Given the description of an element on the screen output the (x, y) to click on. 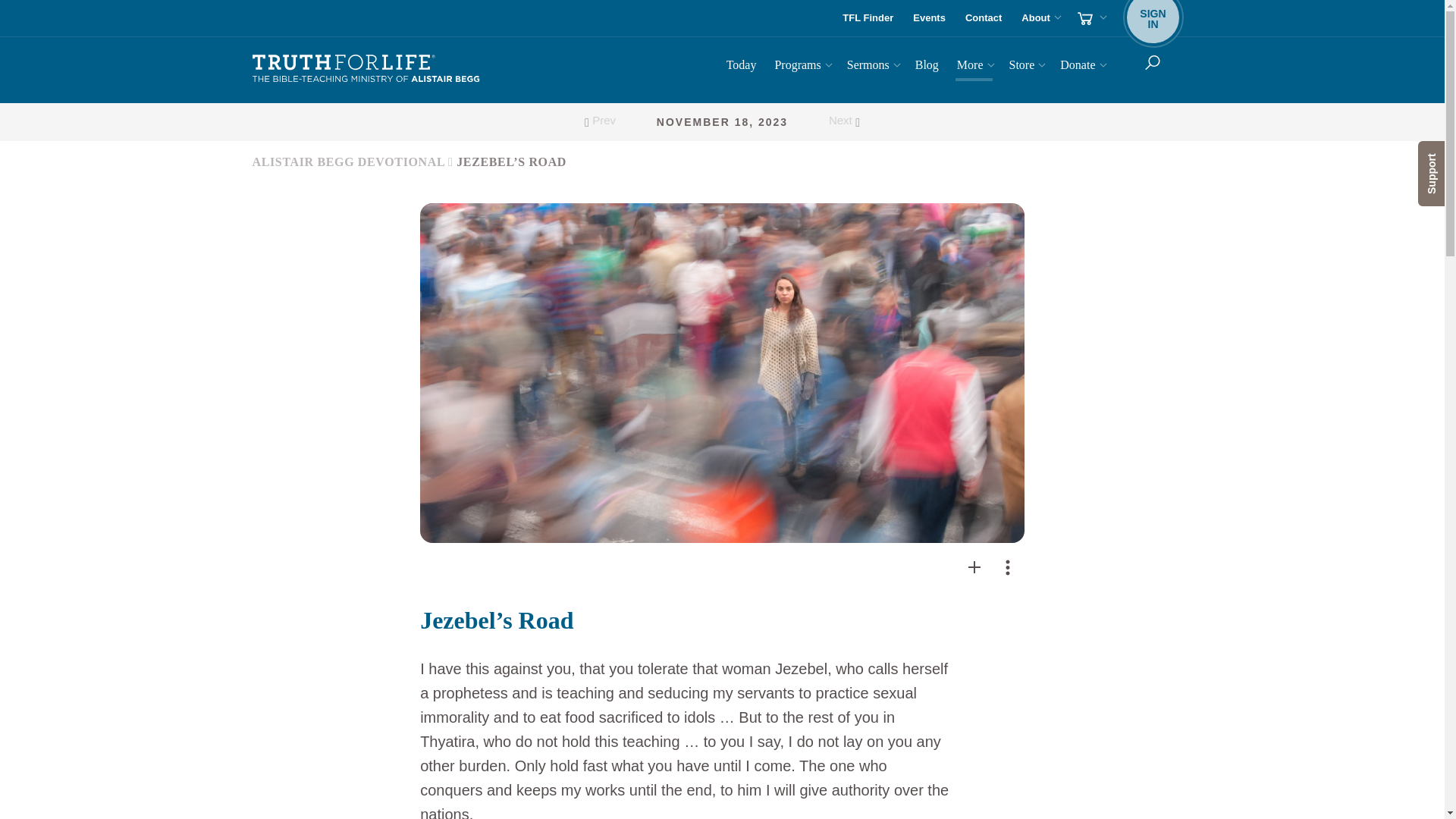
More Options (1008, 566)
Events (929, 18)
Today (741, 66)
Truth For Life (365, 68)
Add to My Library (974, 566)
Programs (801, 66)
cart (1090, 18)
TFL Finder (1152, 18)
Contact (867, 18)
Add to My Library (983, 18)
November 18, 2023 (974, 566)
About (721, 121)
